Given the description of an element on the screen output the (x, y) to click on. 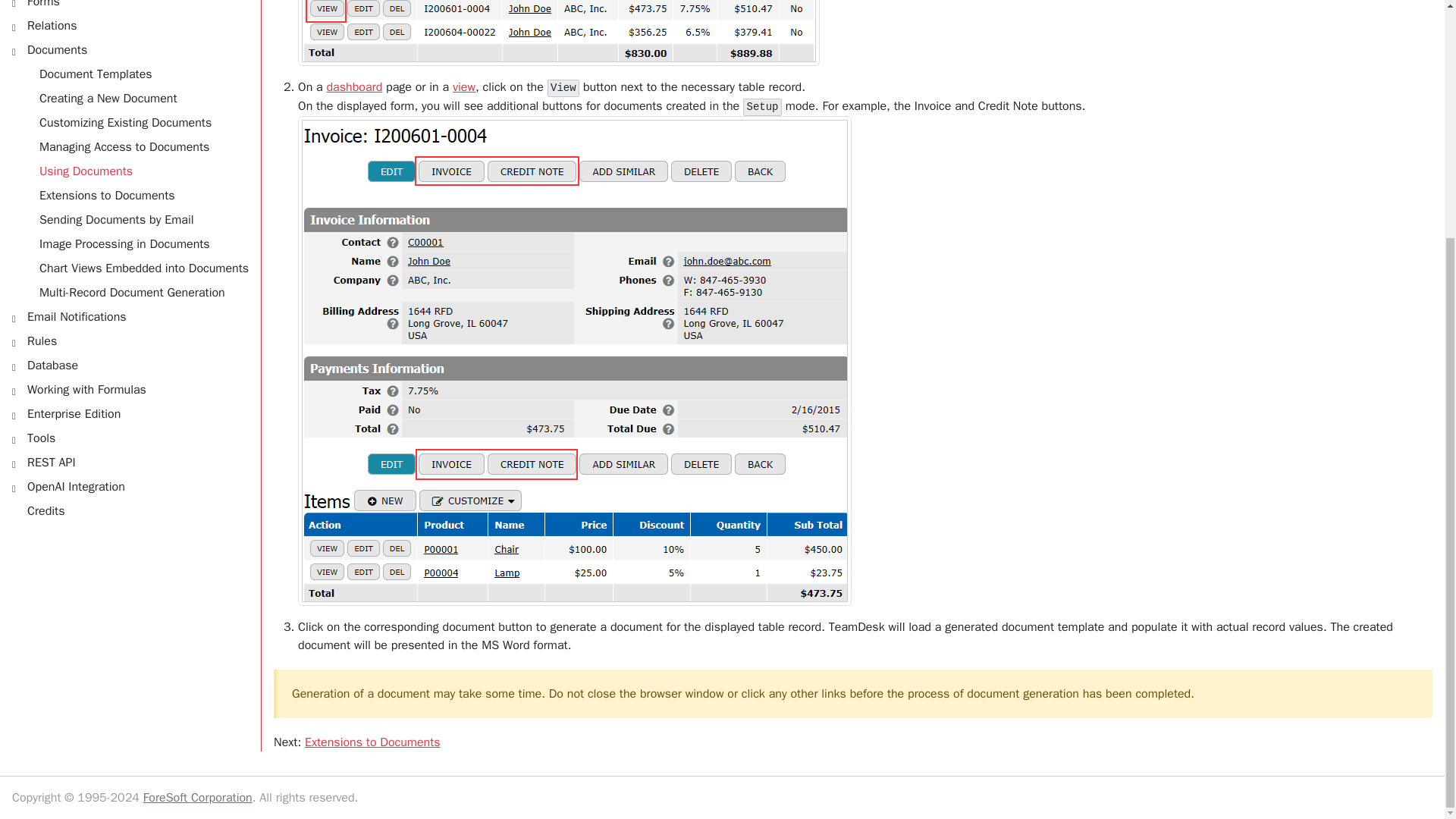
Forms (129, 6)
Documents (129, 49)
Image Processing in Documents (136, 243)
OpenAI Integration (129, 486)
Tools (129, 437)
Enterprise Edition (129, 413)
Creating a New Document (136, 98)
Chart Views Embedded into Documents (136, 268)
Multi-Record Document Generation (136, 292)
Managing Access to Documents (136, 146)
Customizing Existing Documents (136, 122)
Email Notifications (129, 316)
view (464, 87)
Extensions to Documents (372, 742)
Working with Formulas (129, 389)
